Given the description of an element on the screen output the (x, y) to click on. 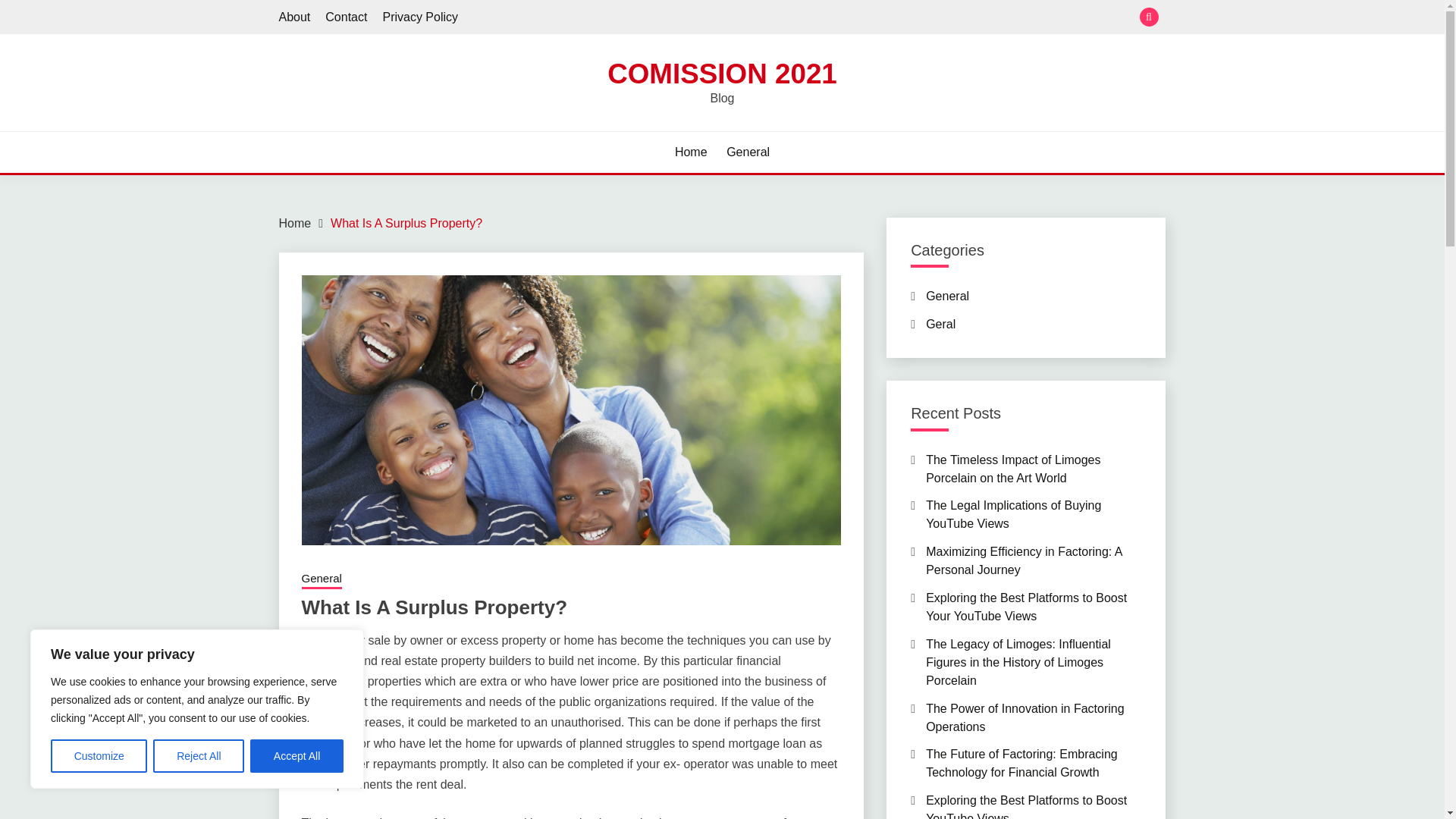
COMISSION 2021 (722, 73)
Privacy Policy (419, 16)
Home (295, 223)
What Is A Surplus Property? (405, 223)
Contact (345, 16)
Accept All (296, 756)
General (321, 579)
About (295, 16)
Customize (98, 756)
Home (691, 152)
General (748, 152)
Reject All (198, 756)
